Given the description of an element on the screen output the (x, y) to click on. 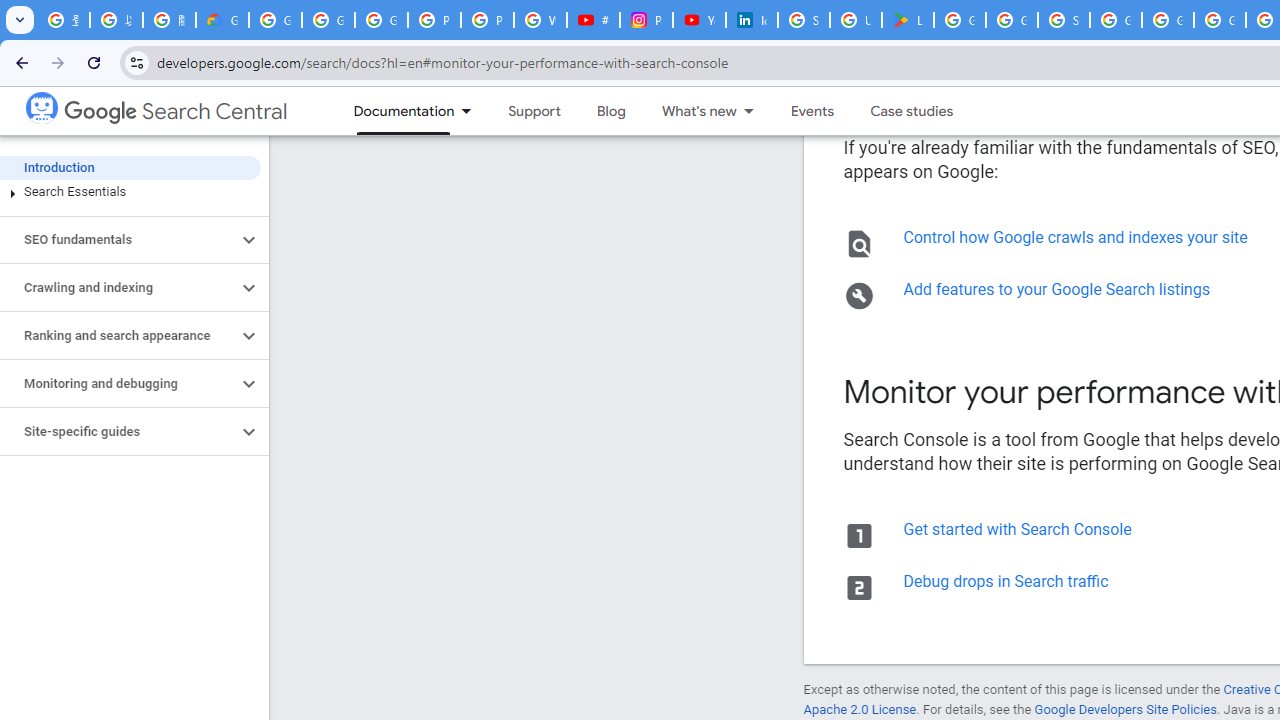
#nbabasketballhighlights - YouTube (593, 20)
Search Essentials (130, 191)
Get started with Search Console (1016, 529)
Control how Google crawls and indexes your site (1075, 237)
Add features to your Google Search listings (1056, 289)
SEO fundamentals (118, 239)
Sign in - Google Accounts (1064, 20)
Blog (610, 111)
